Given the description of an element on the screen output the (x, y) to click on. 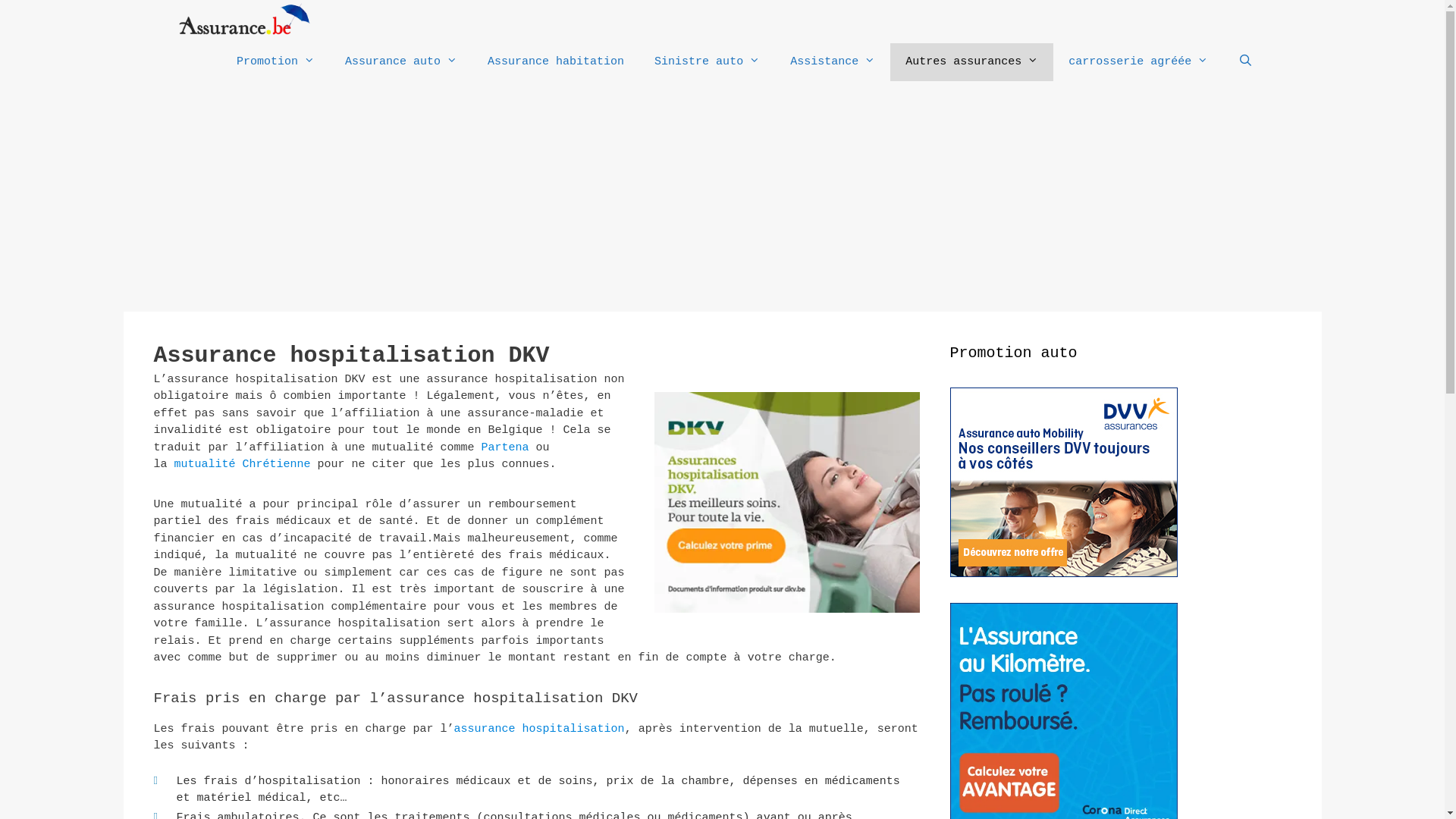
Assistance Element type: text (832, 62)
Advertisement Element type: hover (721, 197)
Promotion Element type: text (275, 62)
Autres assurances Element type: text (971, 62)
Assurance habitation Element type: text (555, 62)
Sinistre auto Element type: text (707, 62)
assurance hospitalisation Element type: text (539, 728)
Assurance auto Element type: text (400, 62)
Partena Element type: text (505, 447)
